Given the description of an element on the screen output the (x, y) to click on. 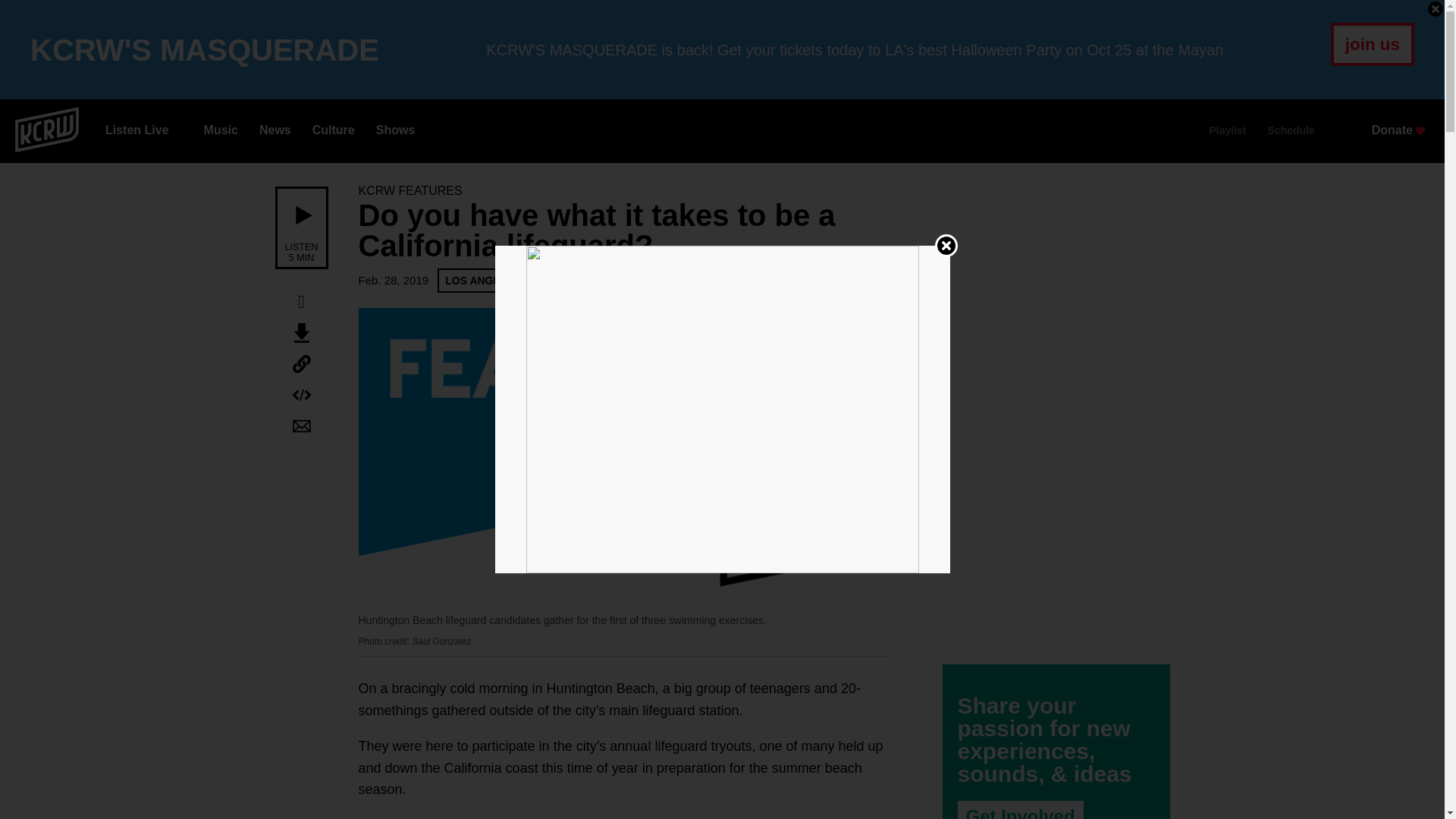
Schedule (1291, 130)
Culture (334, 129)
Listen Live (133, 130)
Music (220, 129)
KCRW FEATURES (409, 190)
Share on Facebook (301, 301)
News (275, 129)
Playlist (1227, 130)
KCRW (46, 128)
Donate (1397, 129)
